Given the description of an element on the screen output the (x, y) to click on. 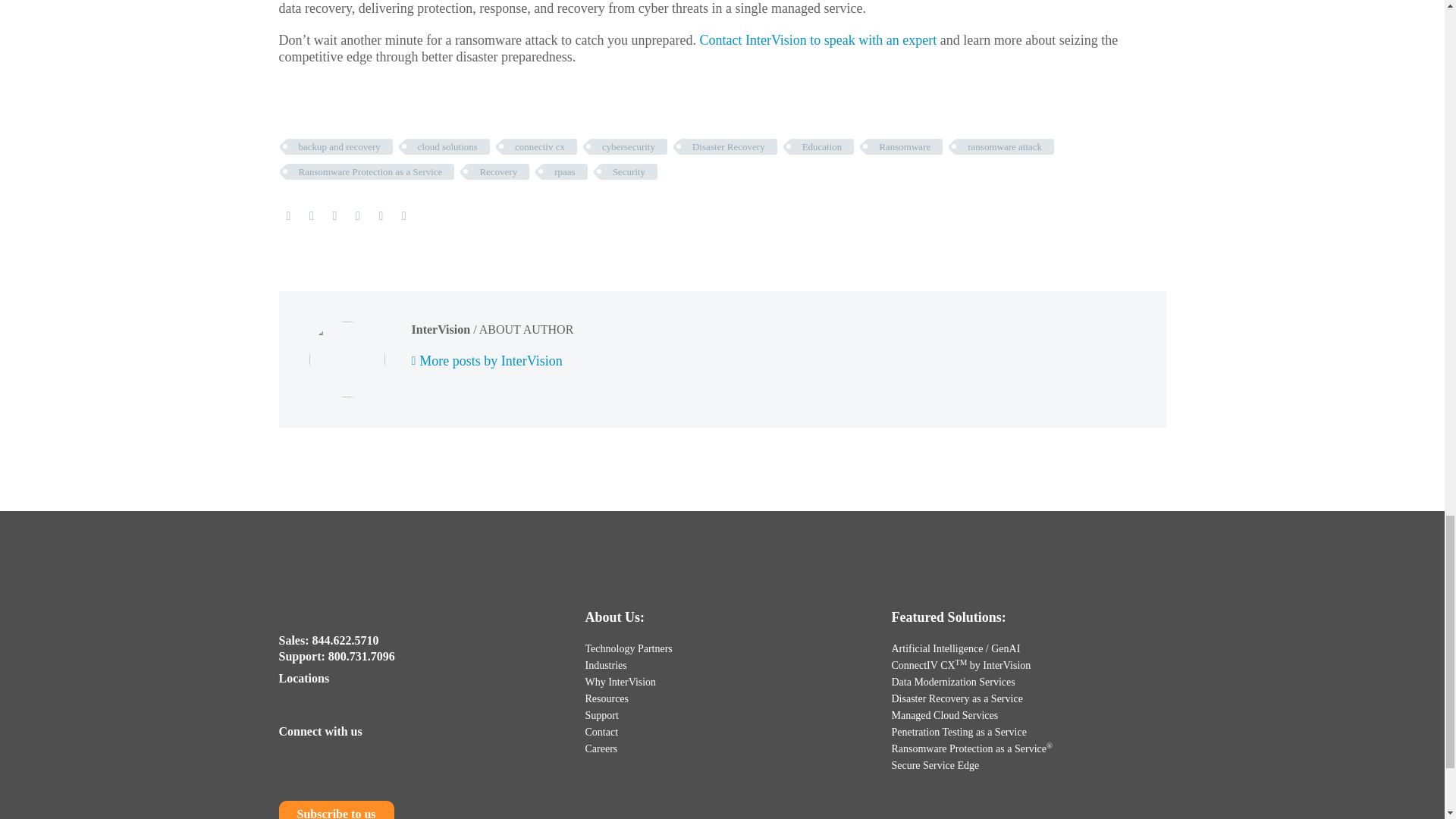
Tumblr (358, 215)
Facebook (288, 215)
Pinterest (334, 215)
LinkedIn (380, 215)
Twitter (311, 215)
